Given the description of an element on the screen output the (x, y) to click on. 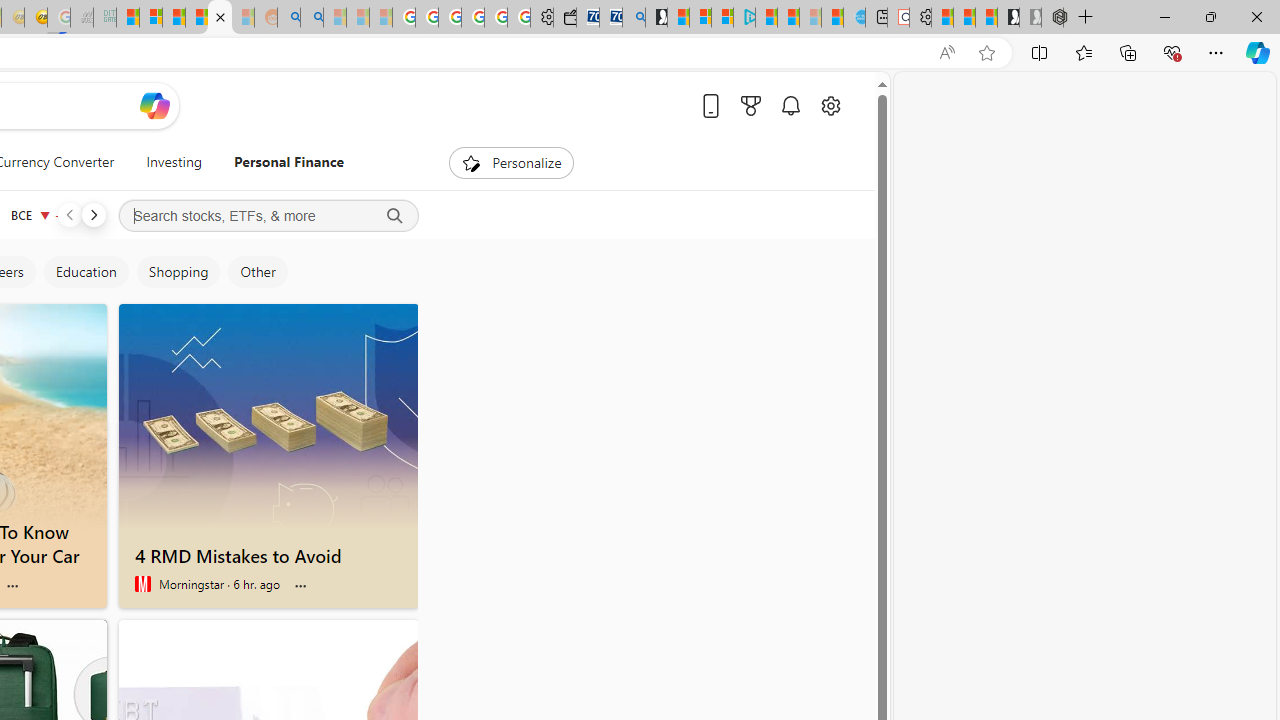
Bing Real Estate - Home sales and rental listings (634, 17)
Investing (174, 162)
4 RMD Mistakes to Avoid - Morningstar (267, 416)
